Given the description of an element on the screen output the (x, y) to click on. 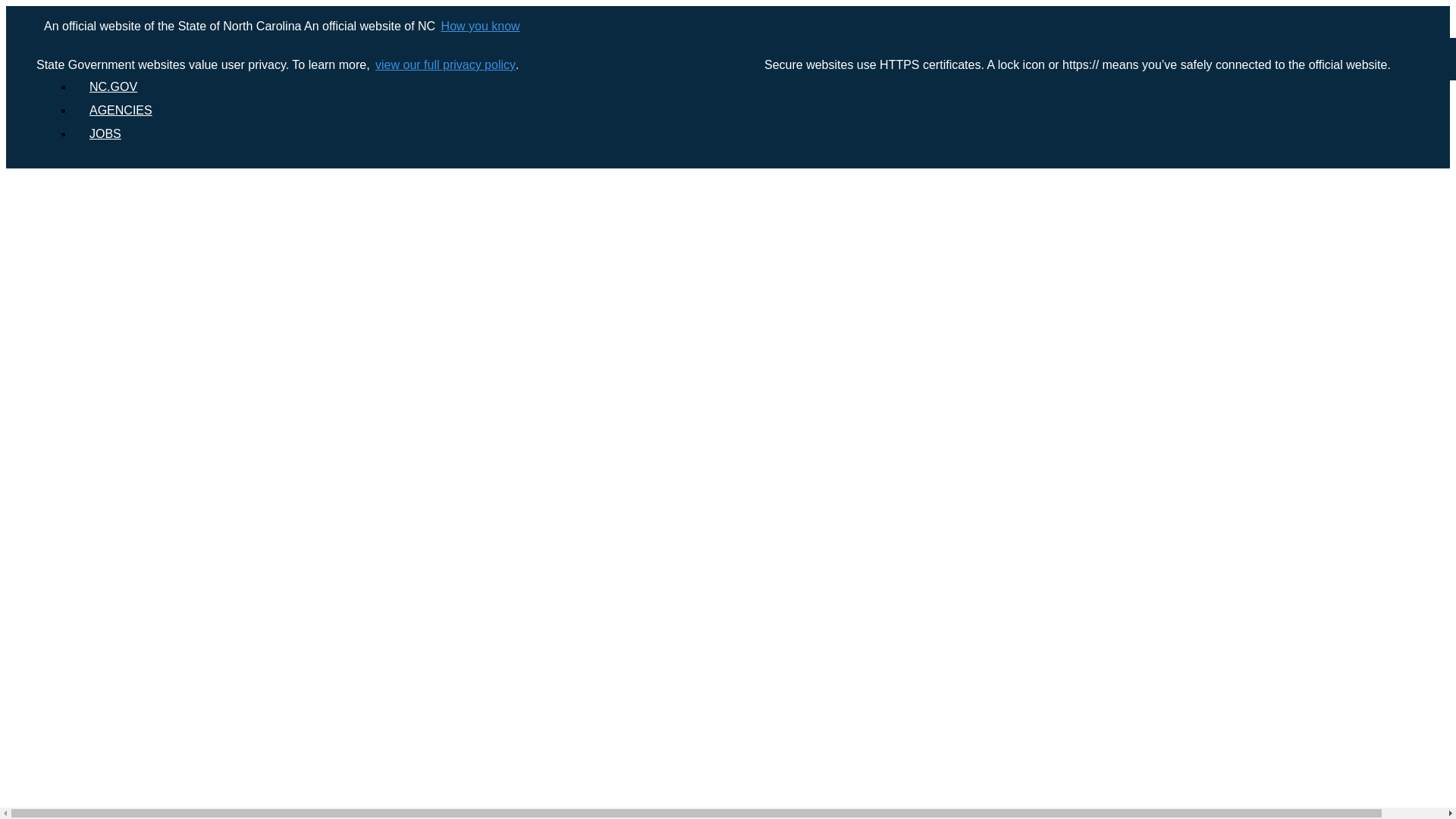
Skip to main content (728, 7)
view our full privacy policy (443, 65)
NC.GOV (113, 86)
JOBS (105, 133)
NCDHHS COVID-19 (137, 62)
AGENCIES (120, 110)
How you know (479, 26)
